Given the description of an element on the screen output the (x, y) to click on. 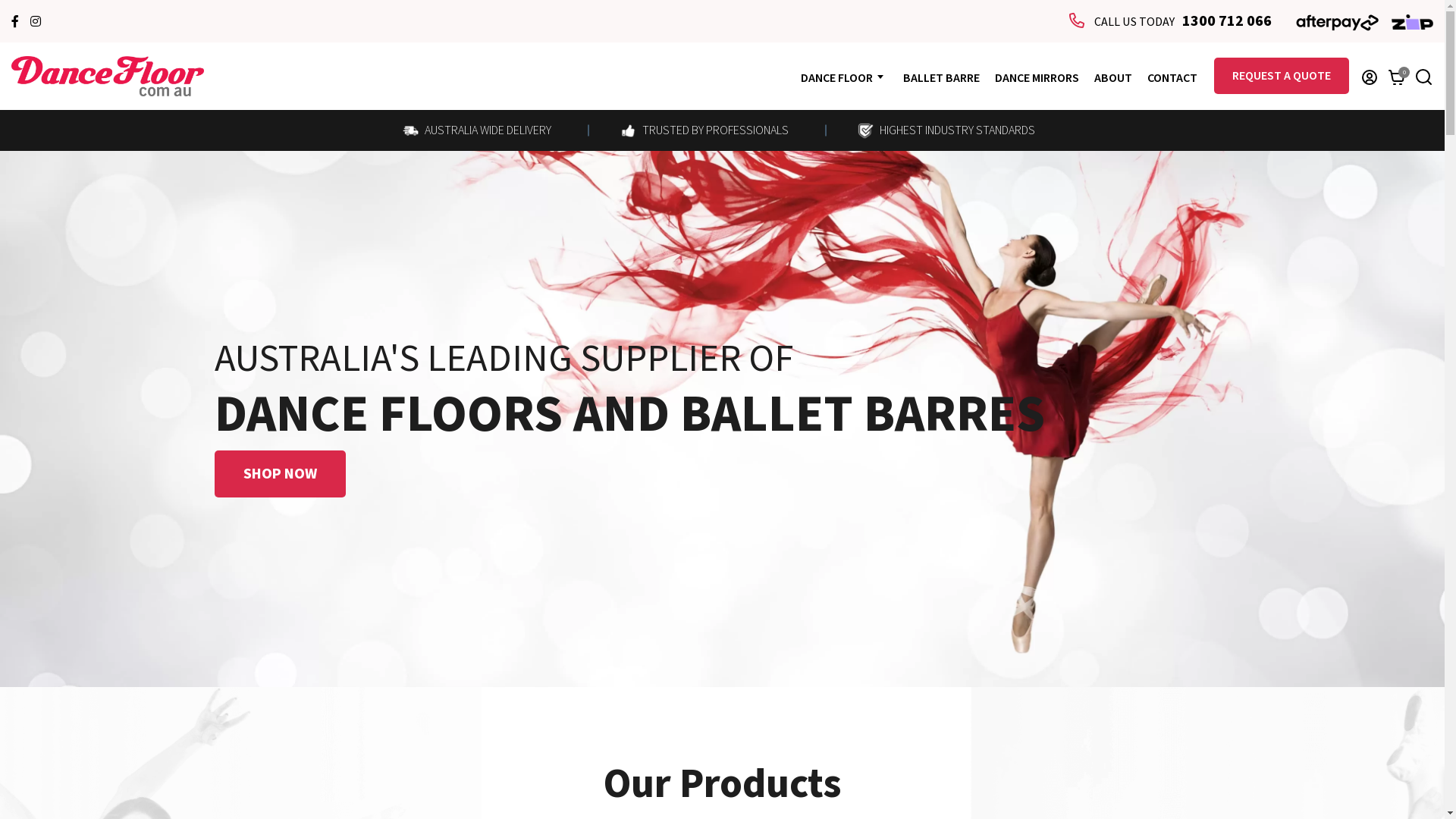
REQUEST A QUOTE Element type: text (1281, 75)
SHOP NOW Element type: text (279, 473)
CALL US TODAY1300 712 066 Element type: text (1170, 21)
Login / Register Element type: hover (1369, 76)
Submit Element type: text (414, 217)
ABOUT Element type: text (1113, 77)
DANCE MIRRORS Element type: text (1036, 77)
CONTACT Element type: text (1172, 77)
0 Element type: text (1396, 76)
DANCE FLOOR Element type: text (836, 77)
BALLET BARRE Element type: text (941, 77)
